Given the description of an element on the screen output the (x, y) to click on. 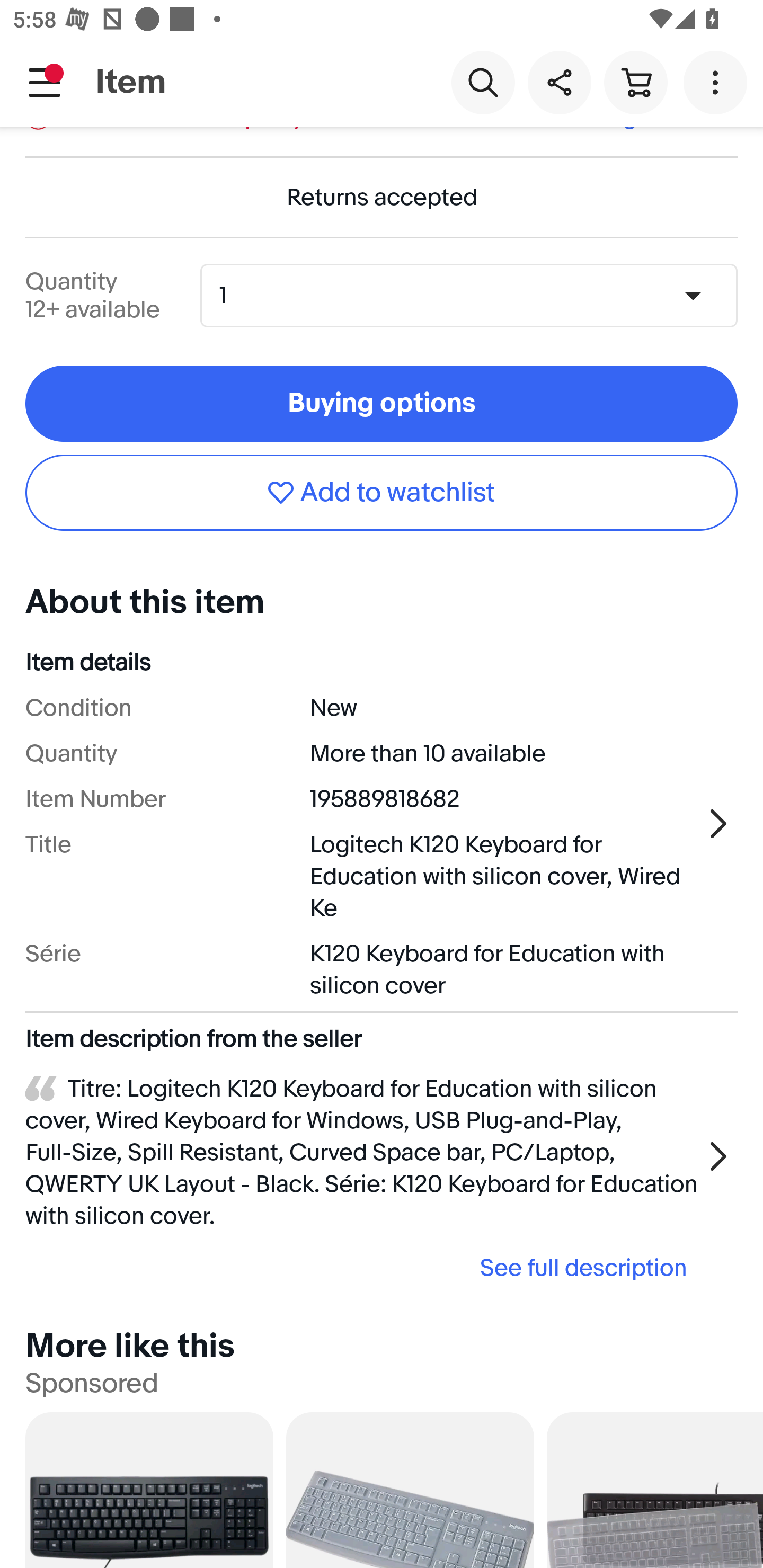
Main navigation, notification is pending, open (44, 82)
Search (482, 81)
Share this item (559, 81)
Cart button shopping cart (635, 81)
More options (718, 81)
Quantity,1,12+ available 1 (474, 295)
Buying options (381, 403)
Add to watchlist (381, 492)
See full description (362, 1267)
